Given the description of an element on the screen output the (x, y) to click on. 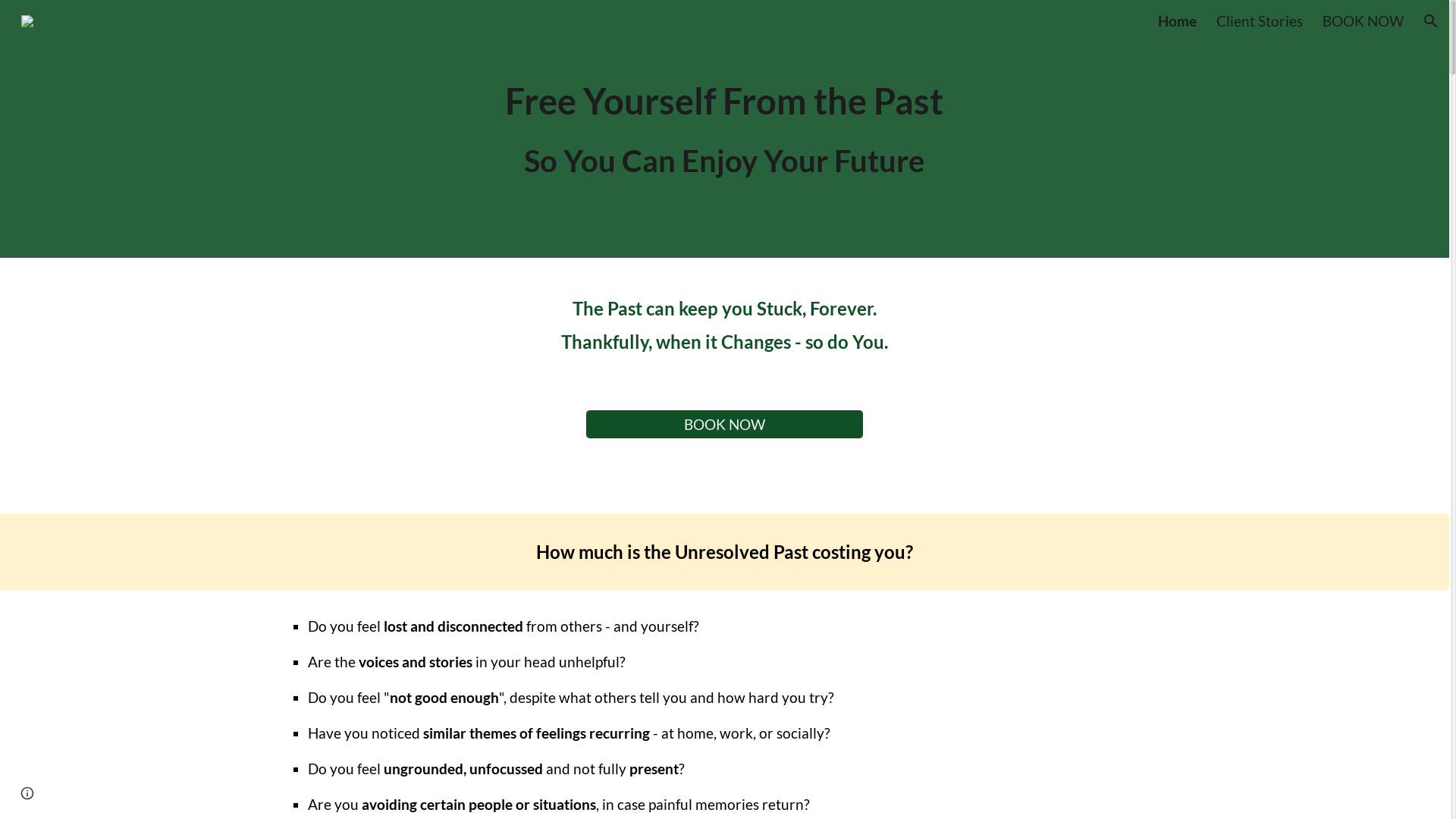
BOOK NOW Element type: text (724, 423)
Home Element type: text (1176, 20)
Client Stories Element type: text (1259, 20)
BOOK NOW Element type: text (1362, 20)
